Given the description of an element on the screen output the (x, y) to click on. 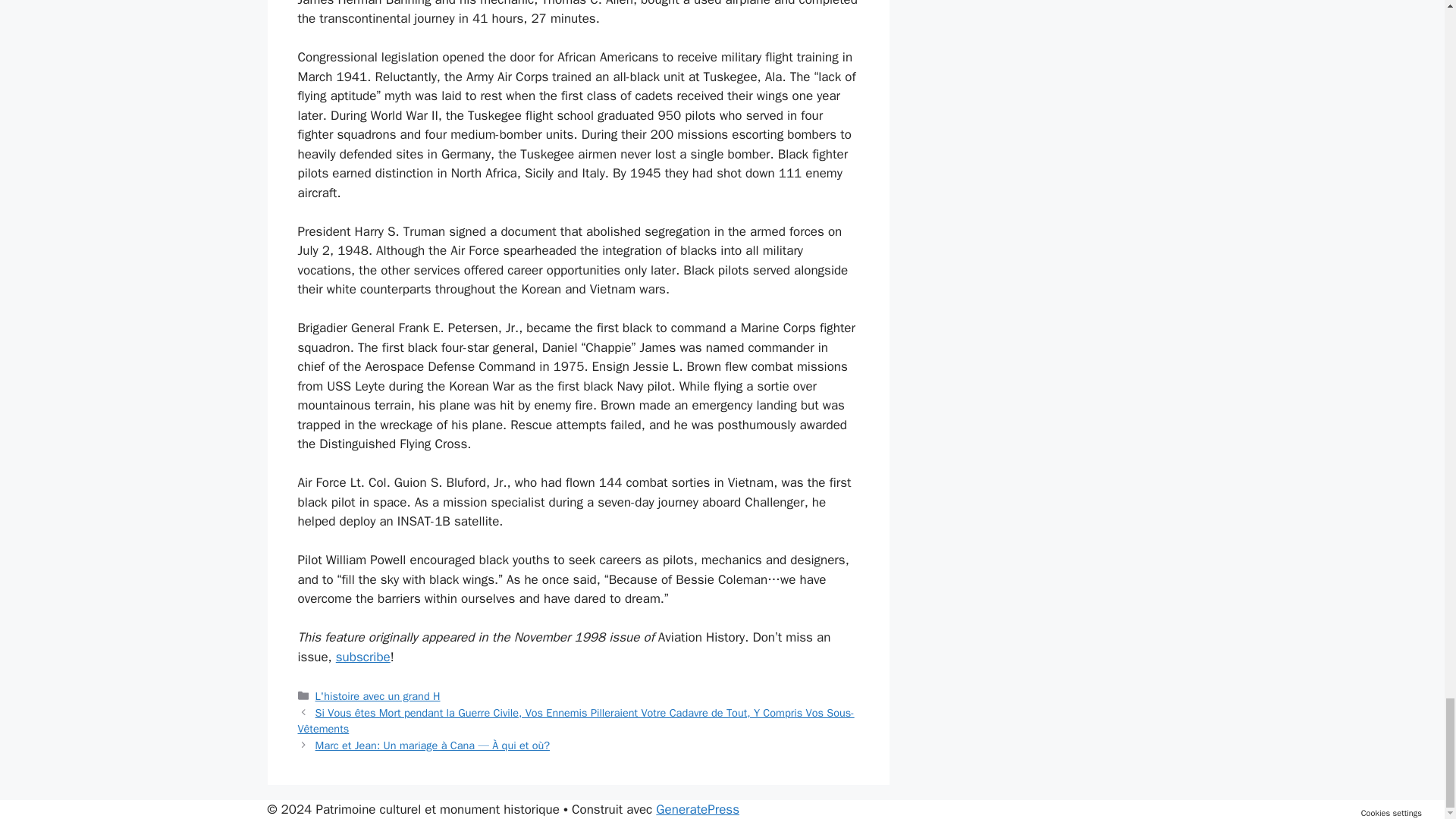
L'histoire avec un grand H (378, 695)
subscribe (363, 657)
Suivant (432, 745)
